Given the description of an element on the screen output the (x, y) to click on. 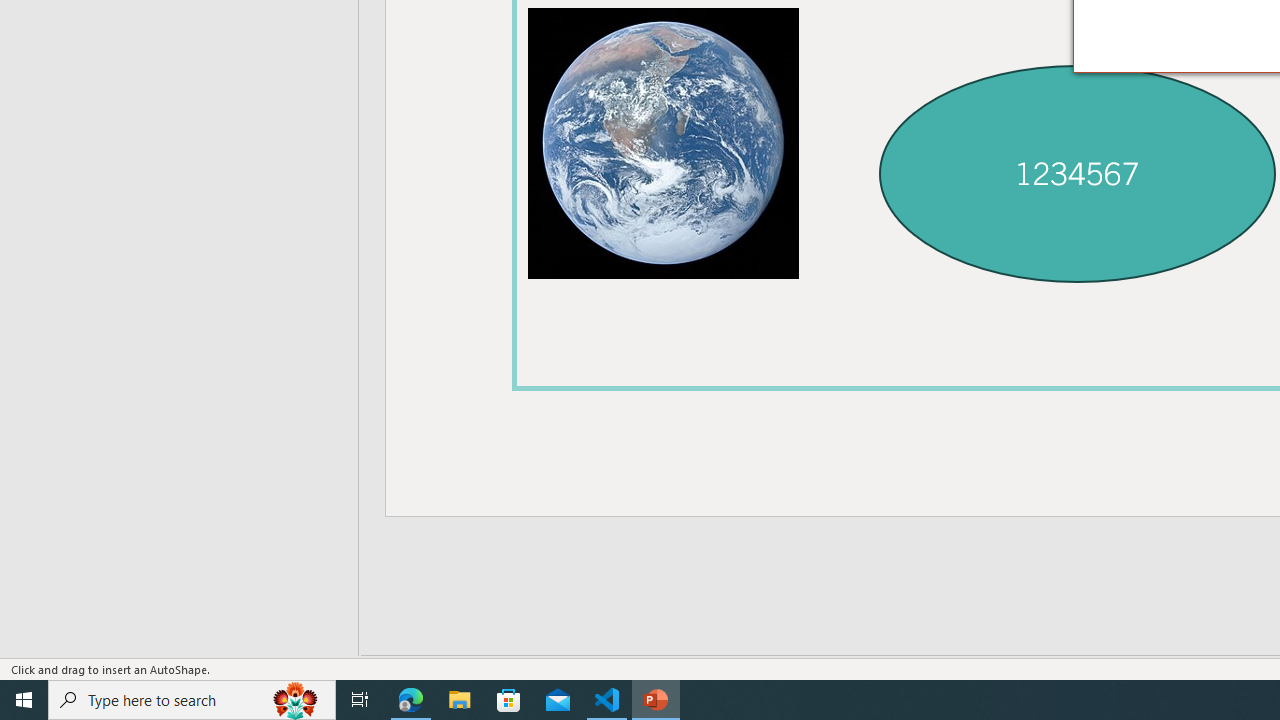
Visual Studio Code - 1 running window (607, 699)
Start (24, 699)
Task View (359, 699)
Microsoft Store (509, 699)
Type here to search (191, 699)
Microsoft Edge - 1 running window (411, 699)
PowerPoint - 1 running window (656, 699)
File Explorer (460, 699)
Search highlights icon opens search home window (295, 699)
